Given the description of an element on the screen output the (x, y) to click on. 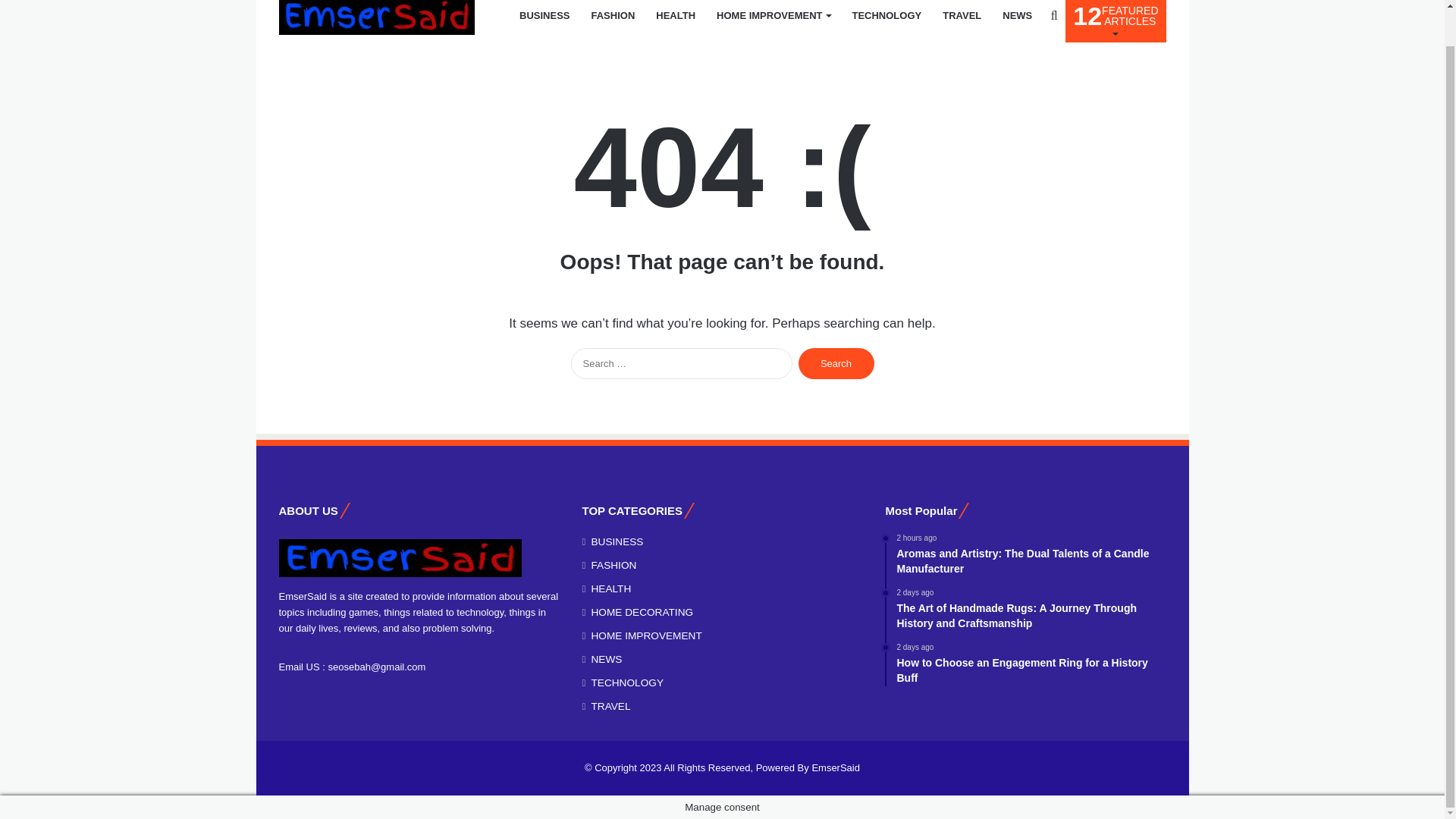
Search (835, 363)
TRAVEL (961, 21)
HOME IMPROVEMENT (773, 21)
NEWS (1016, 21)
Emser said (376, 17)
HEALTH (675, 21)
BUSINESS (543, 21)
Search (1115, 21)
TECHNOLOGY (835, 363)
